Given the description of an element on the screen output the (x, y) to click on. 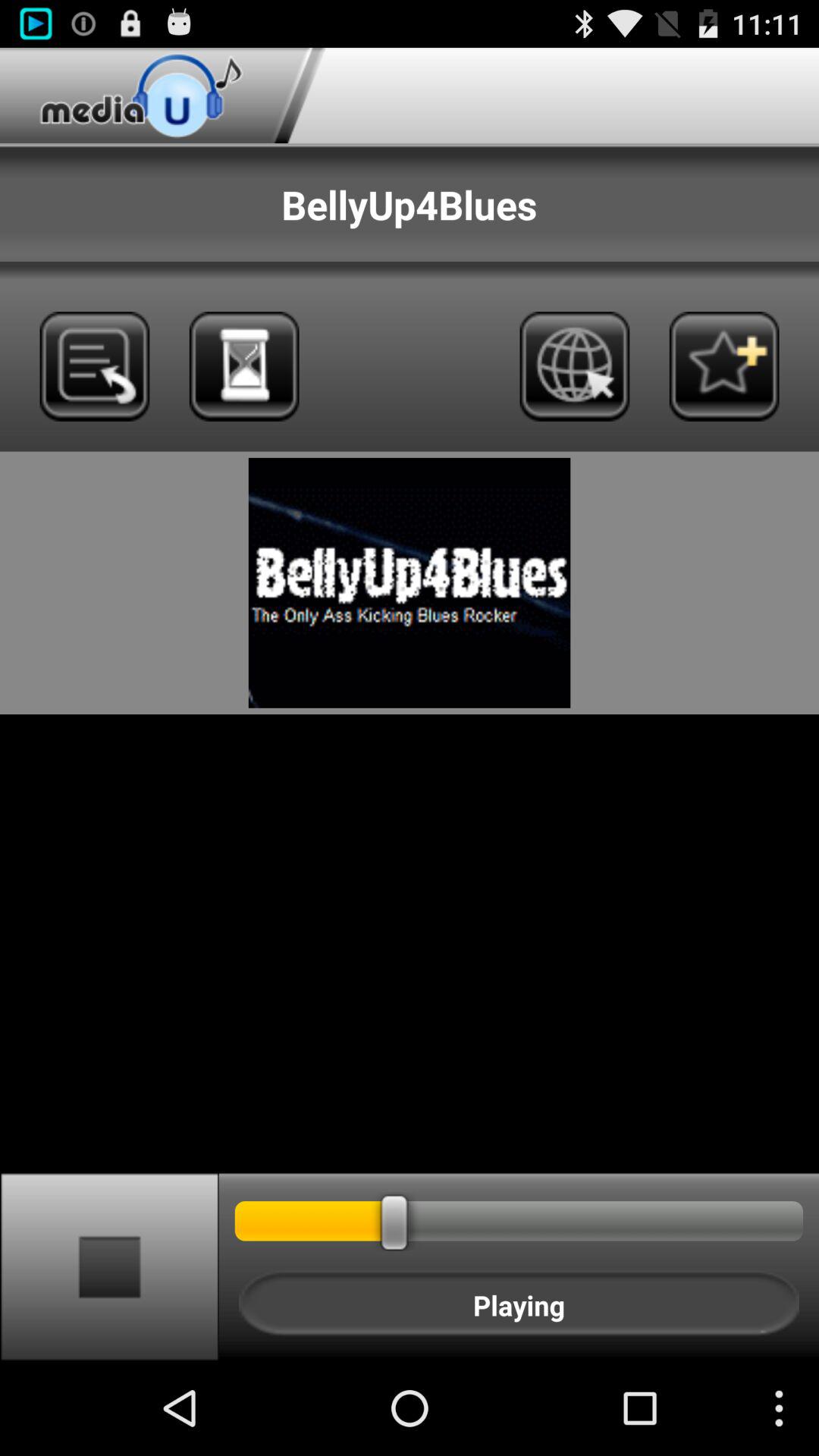
choose the app below bellyup4blues icon (244, 366)
